Given the description of an element on the screen output the (x, y) to click on. 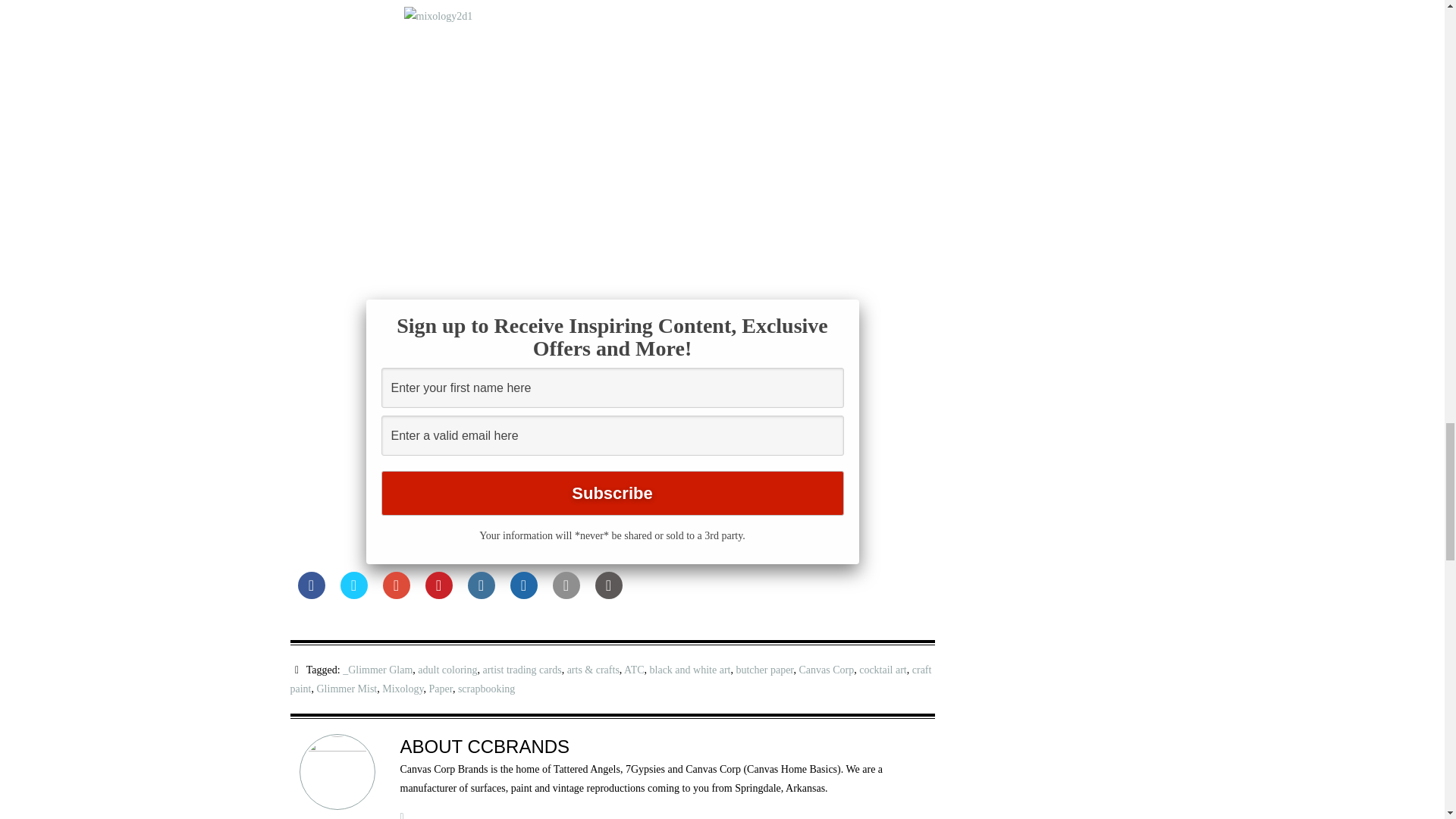
Subscribe (611, 492)
